Given the description of an element on the screen output the (x, y) to click on. 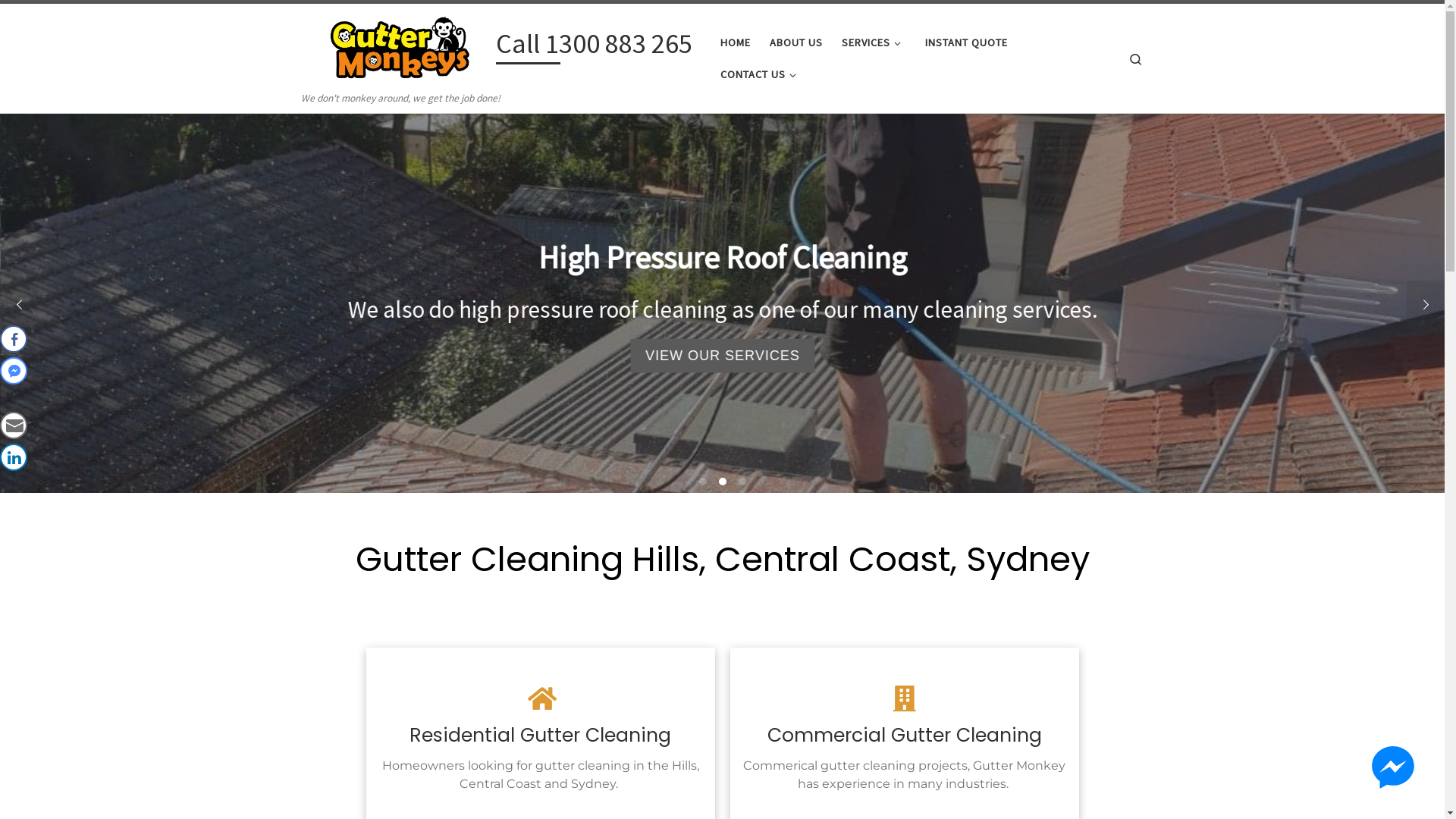
Call 1300 883 265 Element type: text (593, 47)
INSTANT QUOTE Element type: text (966, 42)
HOME Element type: text (735, 42)
CONTACT US Element type: text (760, 74)
ABOUT US Element type: text (796, 42)
Skip to content Element type: text (57, 21)
Search Element type: text (1135, 57)
SERVICES Element type: text (874, 42)
